Given the description of an element on the screen output the (x, y) to click on. 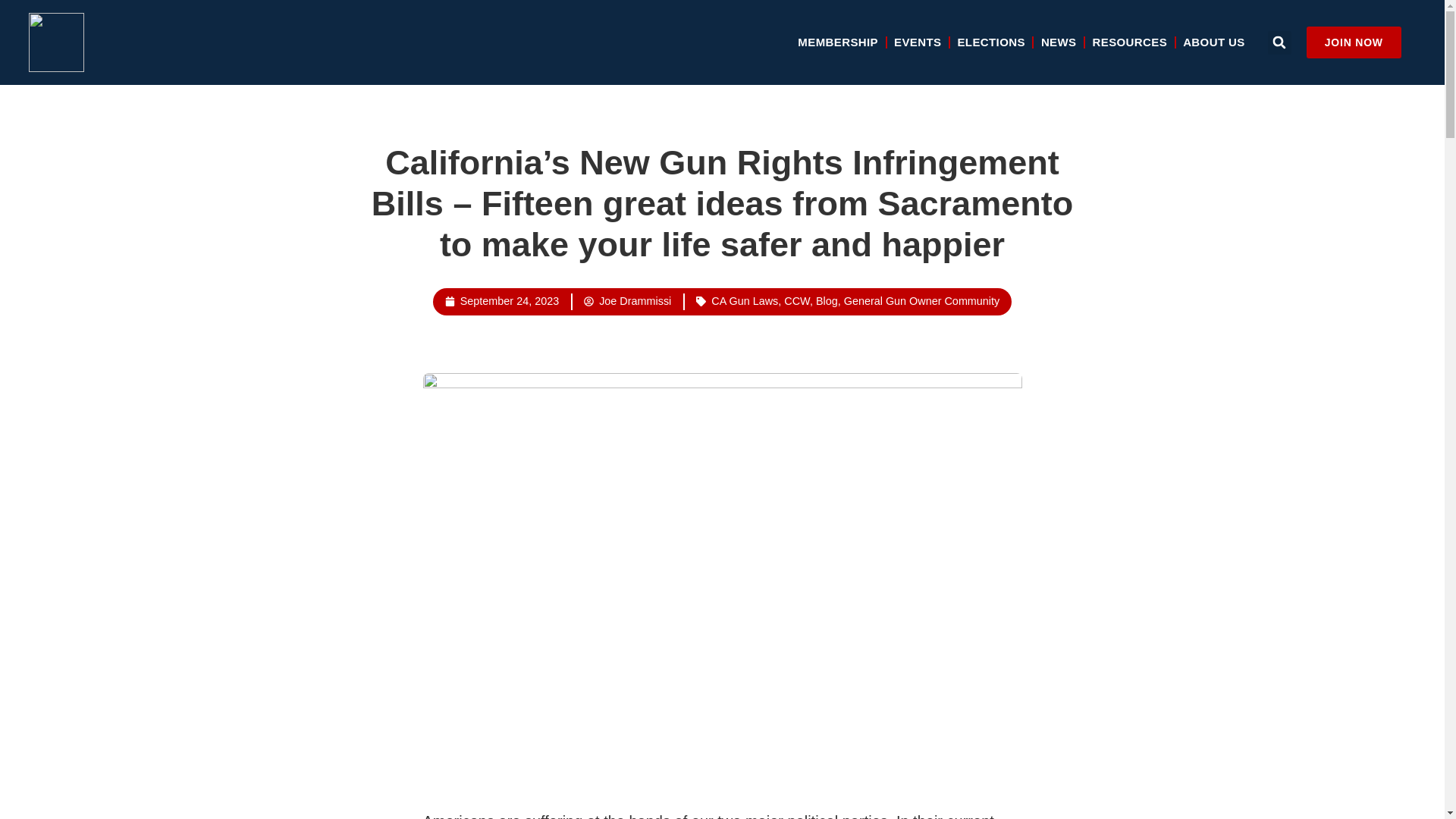
RESOURCES (1129, 42)
ABOUT US (1213, 42)
NEWS (1058, 42)
EVENTS (917, 42)
MEMBERSHIP (837, 42)
ELECTIONS (990, 42)
